Given the description of an element on the screen output the (x, y) to click on. 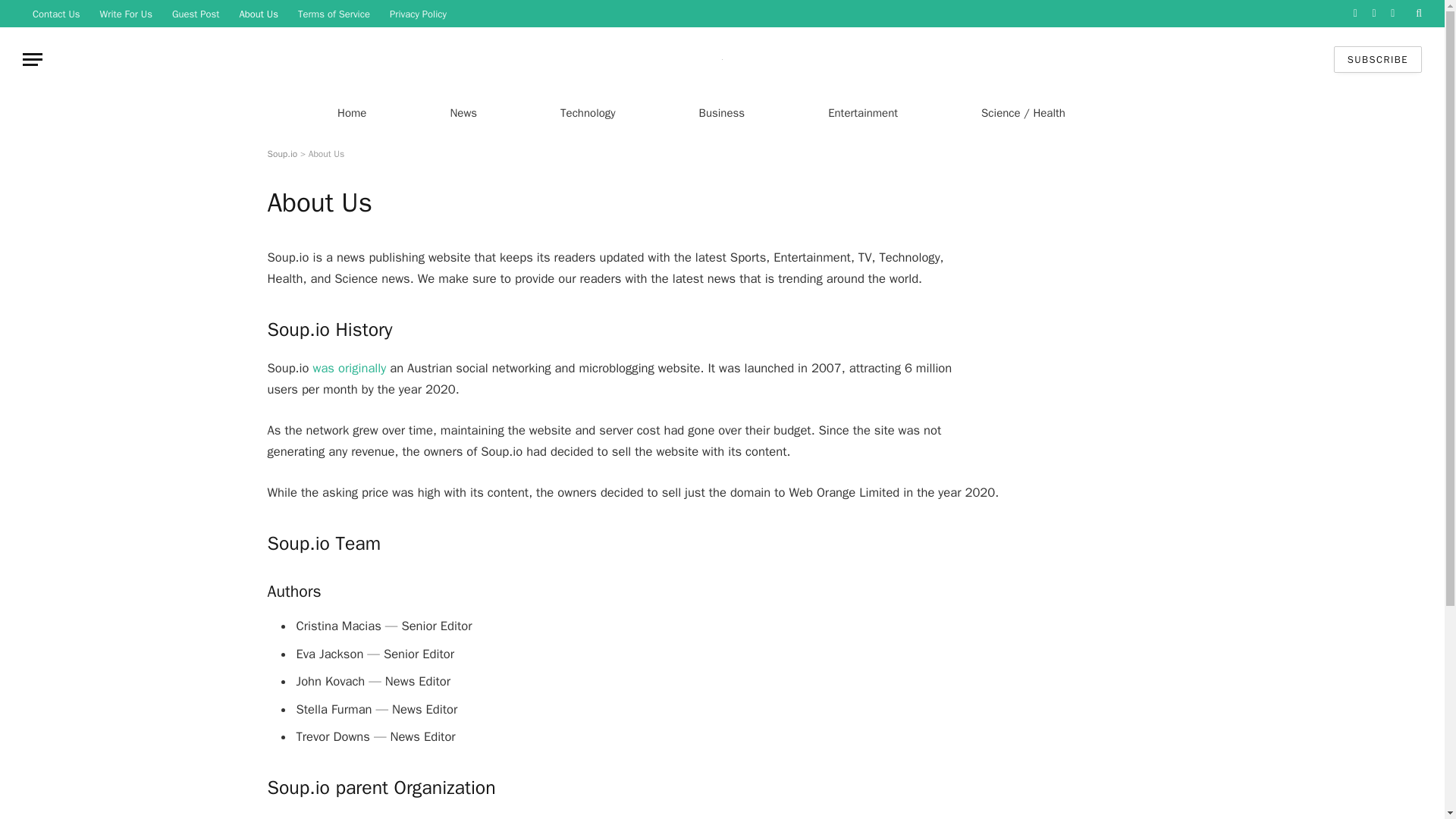
Business (722, 112)
Terms of Service (334, 13)
News (462, 112)
About Us (257, 13)
Entertainment (862, 112)
Privacy Policy (418, 13)
Write For Us (125, 13)
was originally (349, 367)
Soup.io (281, 153)
SUBSCRIBE (1377, 58)
Home (351, 112)
Contact Us (56, 13)
Guest Post (195, 13)
Technology (588, 112)
